Given the description of an element on the screen output the (x, y) to click on. 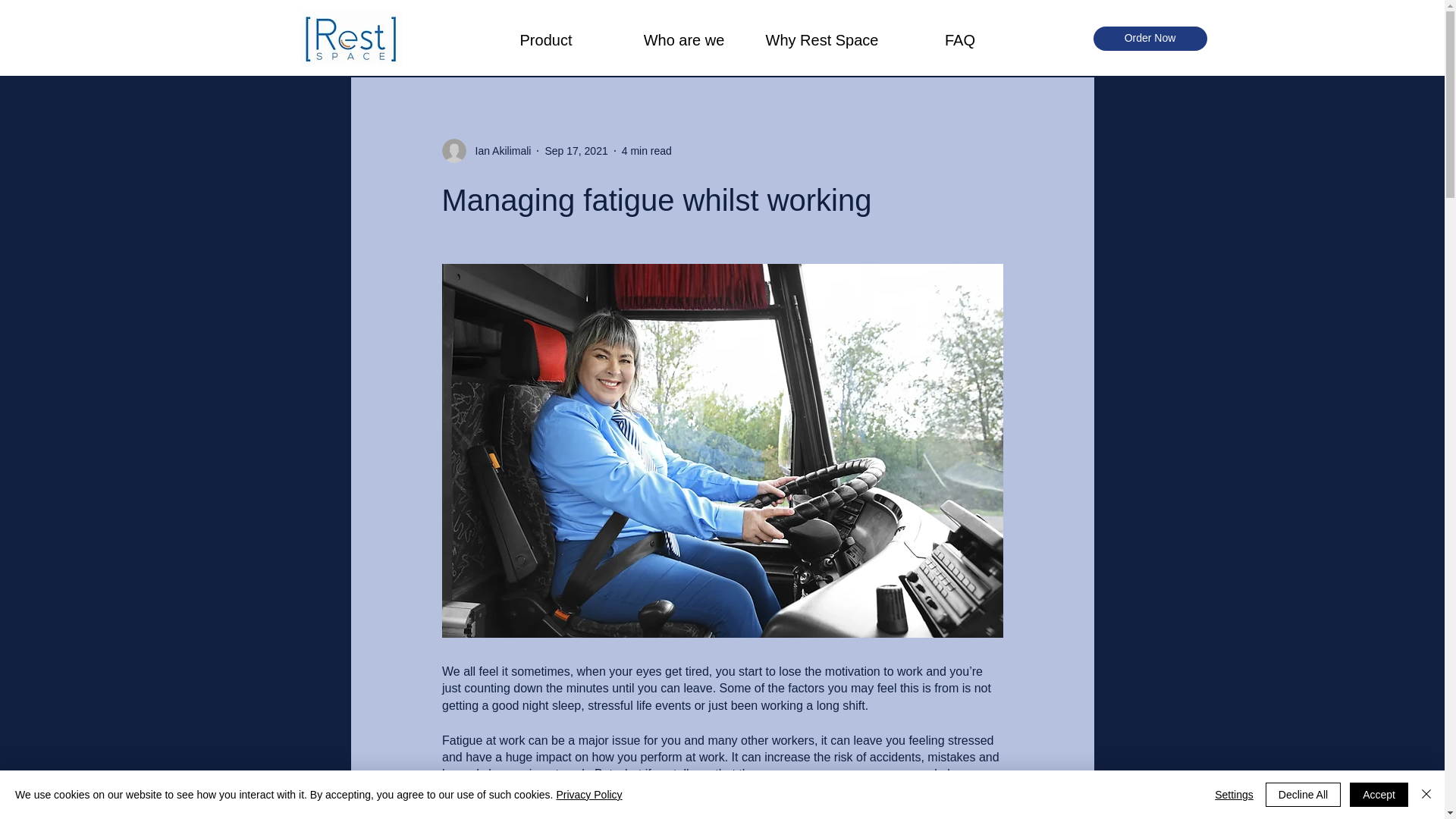
Ian Akilimali (498, 150)
Why Rest Space (821, 38)
4 min read (646, 150)
FAQ (960, 38)
Ian Akilimali (486, 150)
Rest space small logo.png (350, 37)
Order Now (1150, 38)
Product (545, 38)
Who are we (683, 38)
Sep 17, 2021 (575, 150)
